Given the description of an element on the screen output the (x, y) to click on. 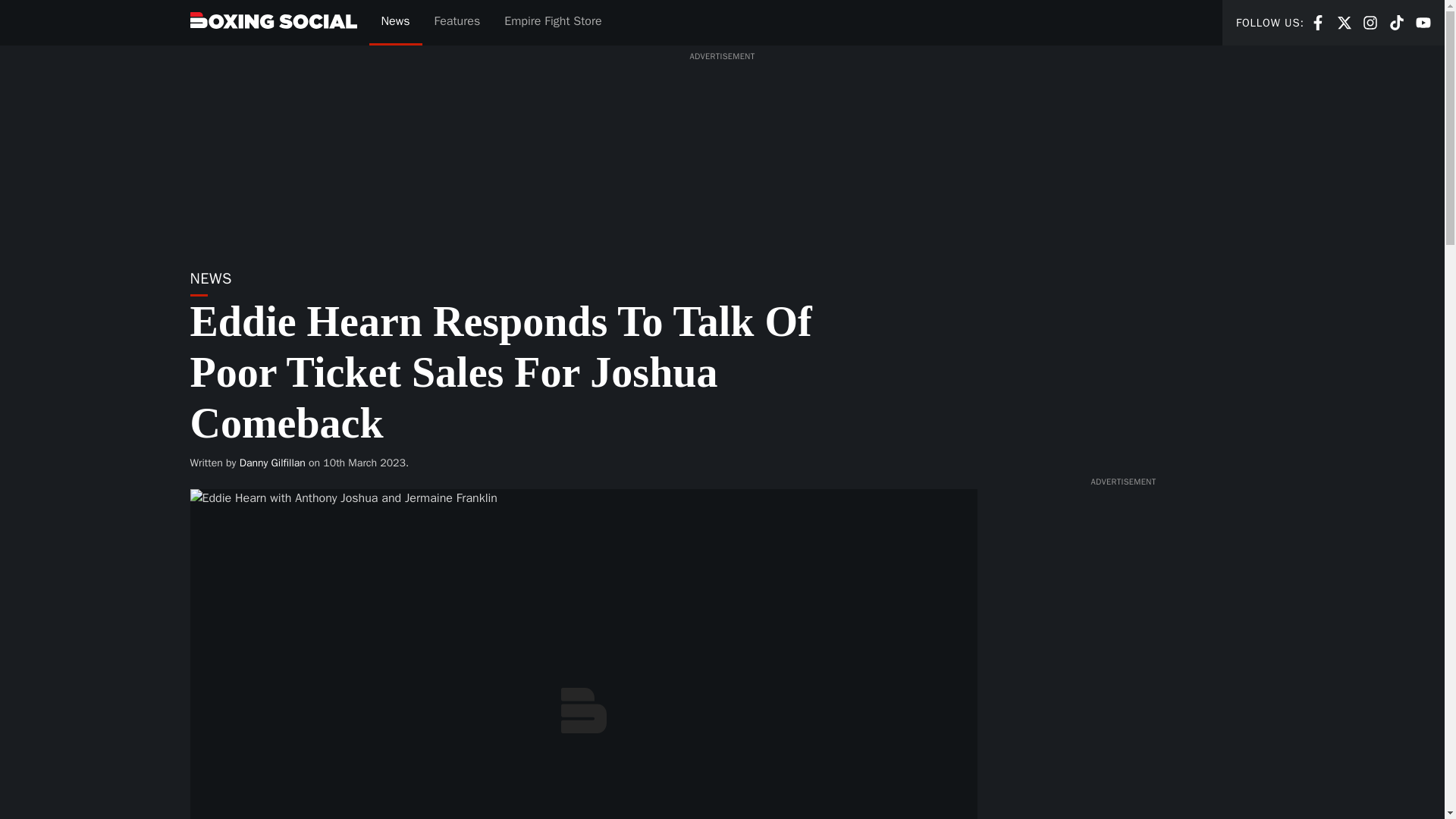
INSTAGRAM (1369, 22)
Empire Fight Store (552, 22)
TIKTOK (1344, 21)
YOUTUBE (1397, 21)
Danny Gilfillan (1369, 21)
X (1397, 22)
FACEBOOK (1423, 22)
Features (272, 462)
News (1344, 22)
Skip to main content (1317, 21)
